Given the description of an element on the screen output the (x, y) to click on. 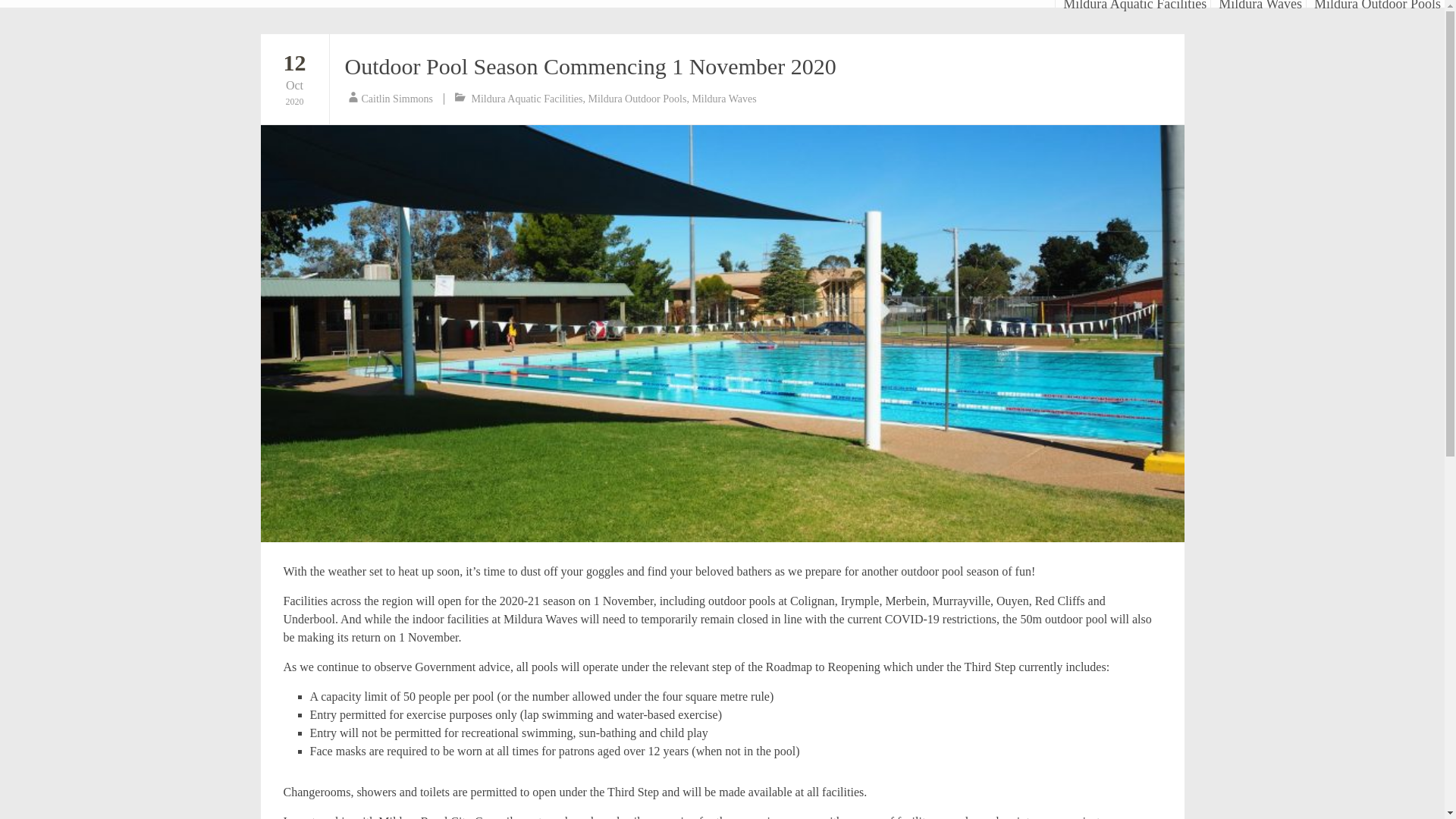
2:17 pm (294, 78)
Mildura Aquatic Facilities (527, 98)
Mildura Outdoor Pools (294, 78)
Skip to content (637, 98)
Outdoor Pool Season Commencing 1 November 2020 (1058, 3)
Caitlin Simmons (1260, 3)
Outdoor Pool Season Commencing 1 November 2020 (396, 98)
Mildura Aquatic Facilities (589, 66)
Mildura Waves (1134, 3)
